Given the description of an element on the screen output the (x, y) to click on. 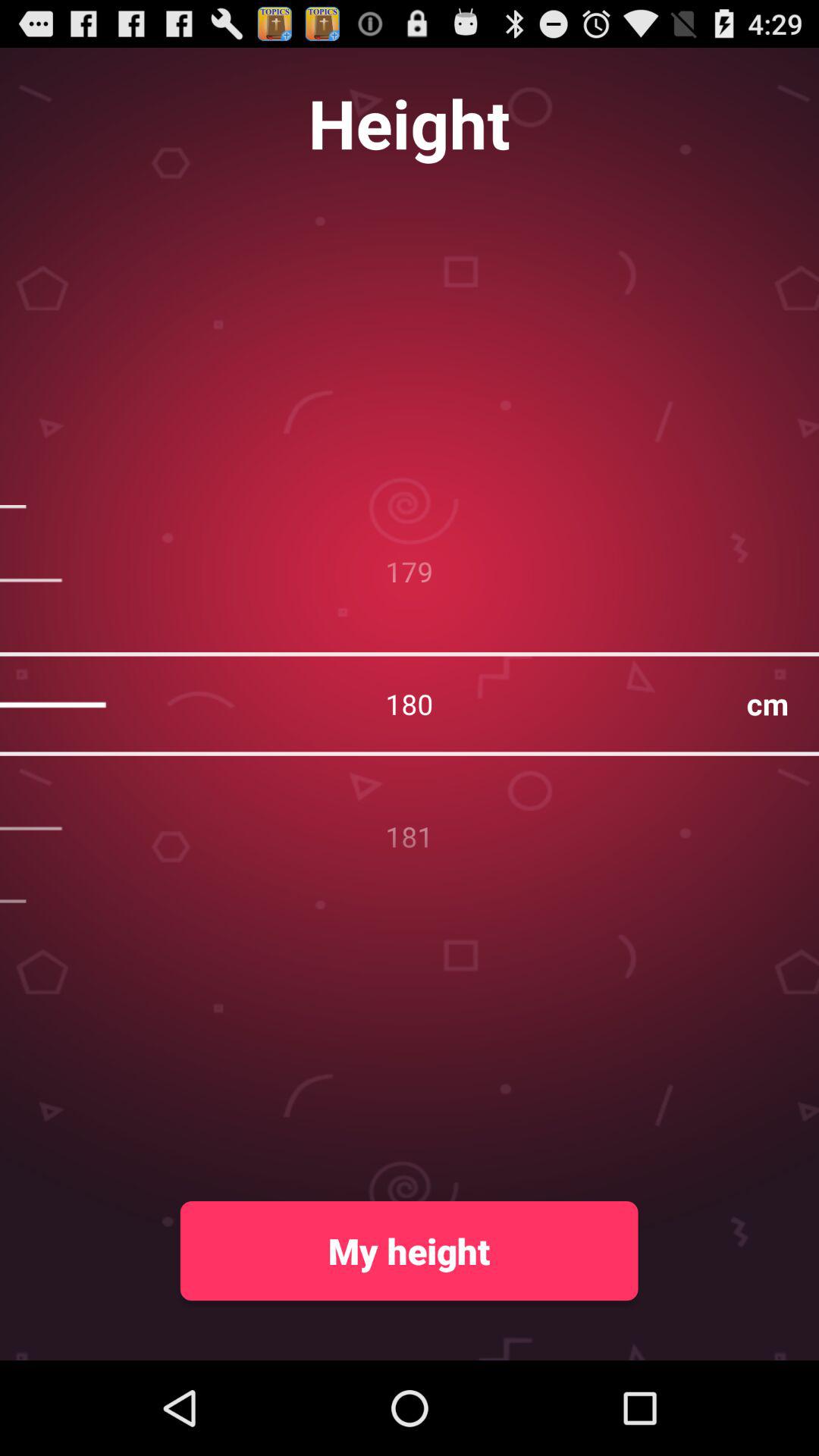
tap icon below 180 (409, 1250)
